Given the description of an element on the screen output the (x, y) to click on. 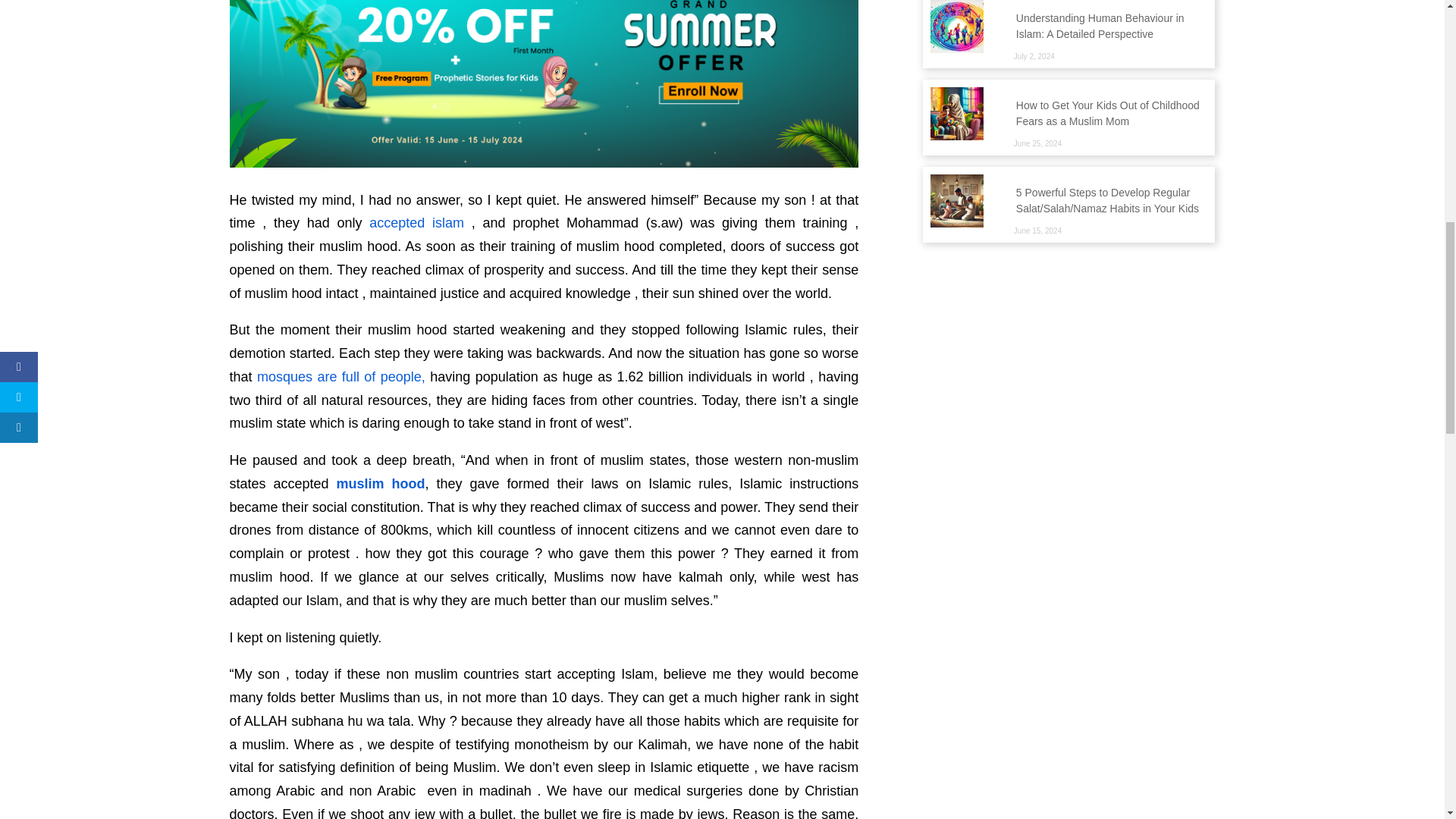
online-quran-classes (543, 83)
